Given the description of an element on the screen output the (x, y) to click on. 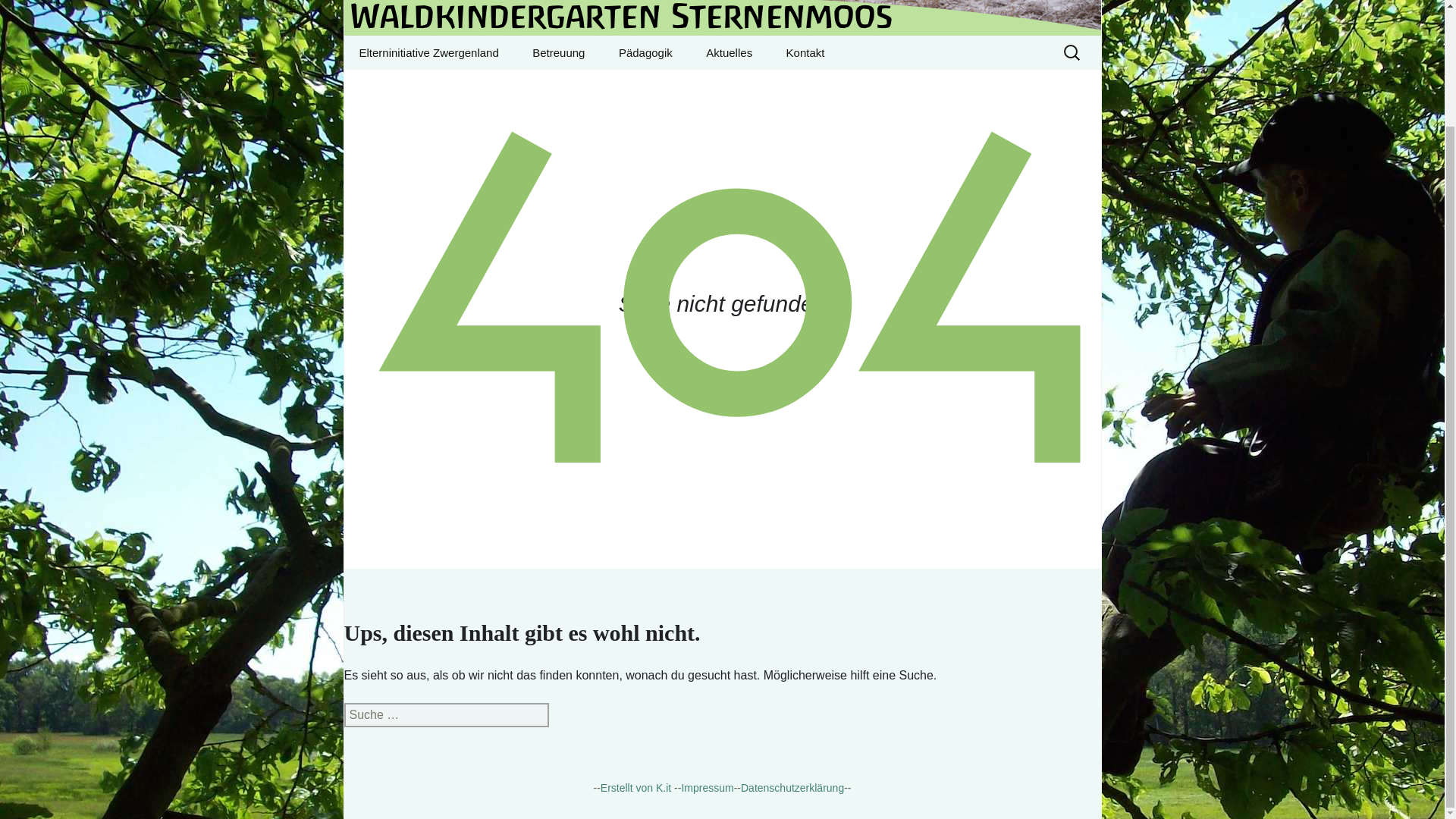
Kontakt (805, 52)
Elterninitiative Zwergenland (428, 52)
Impressum (707, 787)
Betreuung (557, 52)
Aktuelles (728, 52)
Pressemitteilungen (721, 18)
Grundlagen (766, 86)
Das Team (679, 86)
Der Verein (592, 86)
Erstellt von K.it (419, 86)
